Given the description of an element on the screen output the (x, y) to click on. 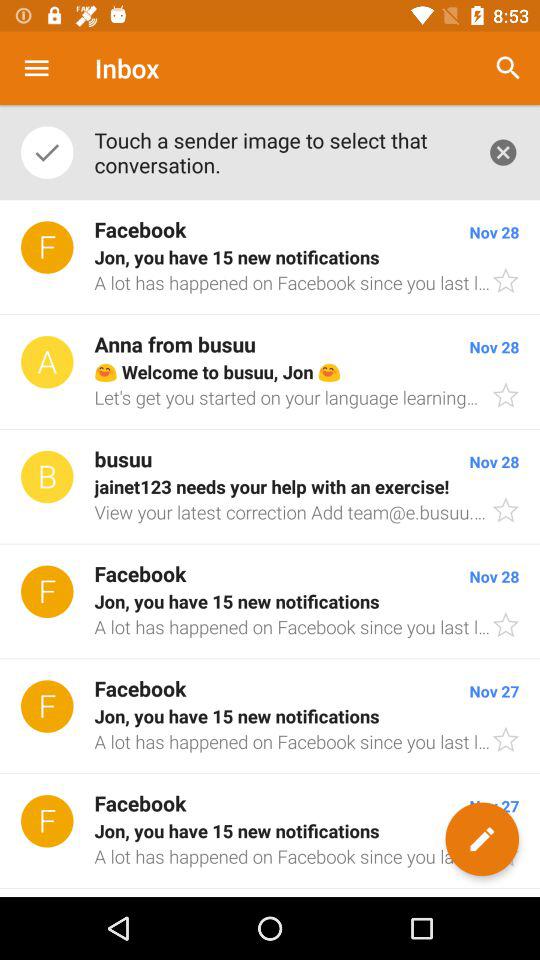
choose the icon next to touch a sender icon (503, 152)
